Given the description of an element on the screen output the (x, y) to click on. 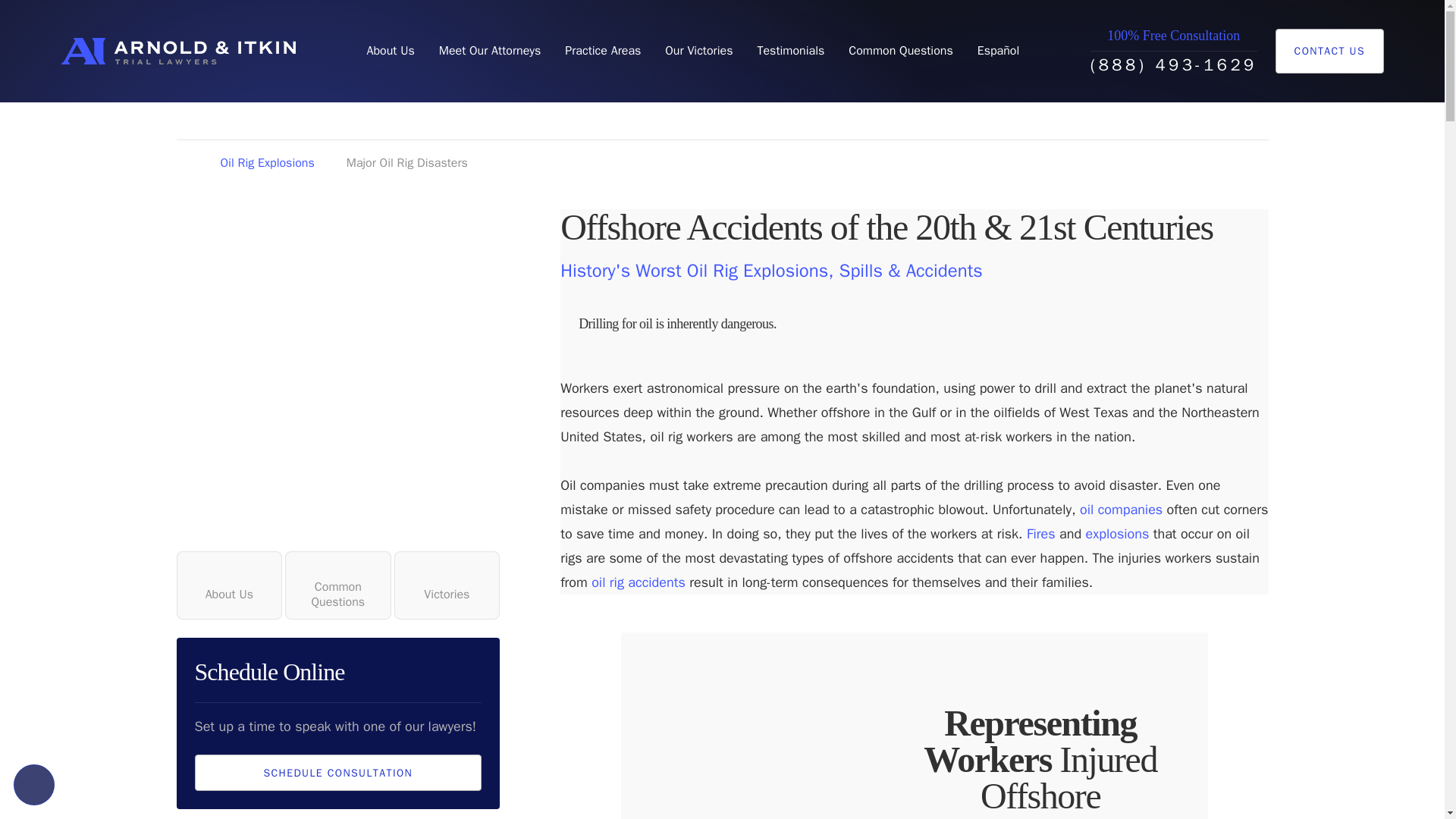
Meet Our Attorneys (490, 51)
About Us (389, 51)
Home (178, 50)
Go Home (181, 163)
